Given the description of an element on the screen output the (x, y) to click on. 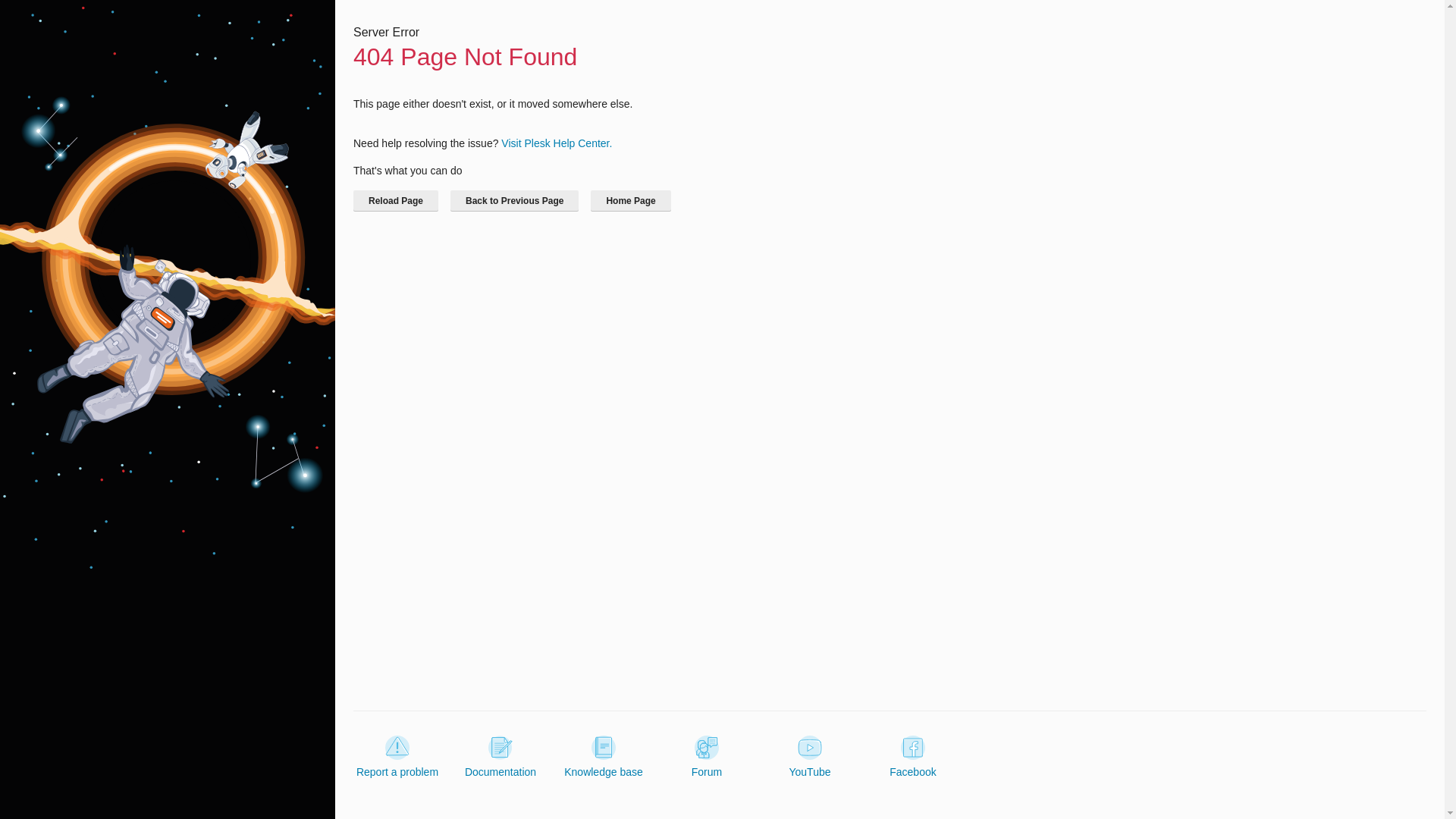
Visit Plesk Help Center. (555, 143)
Back to Previous Page (513, 200)
YouTube (809, 757)
Report a problem (397, 757)
Documentation (500, 757)
Home Page (630, 200)
Reload Page (395, 200)
Forum (706, 757)
Facebook (912, 757)
Knowledge base (603, 757)
